Given the description of an element on the screen output the (x, y) to click on. 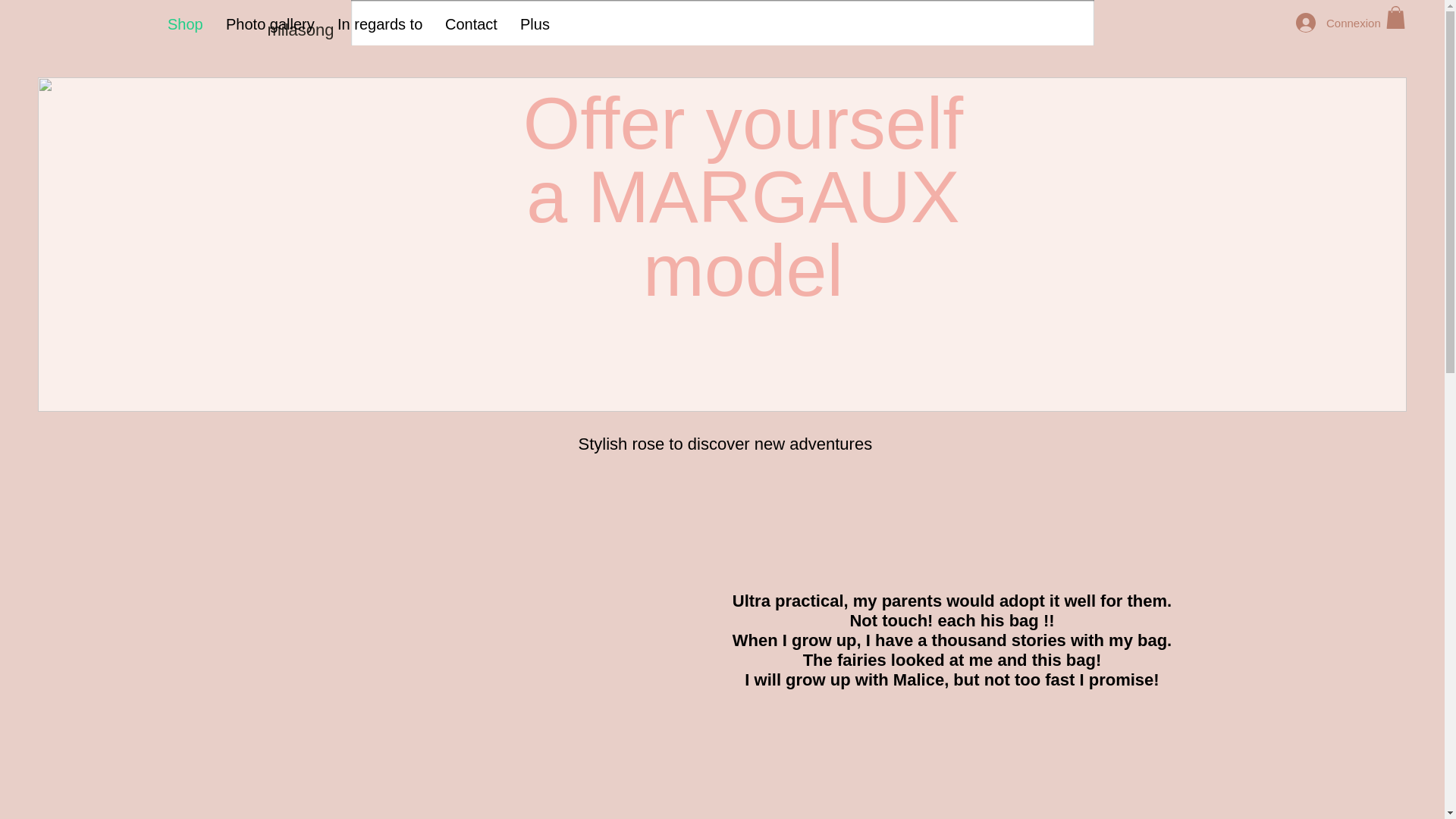
milasong (301, 30)
Contact (470, 24)
Shop (184, 24)
Connexion (1330, 22)
Photo gallery (270, 24)
In regards to (379, 24)
